Given the description of an element on the screen output the (x, y) to click on. 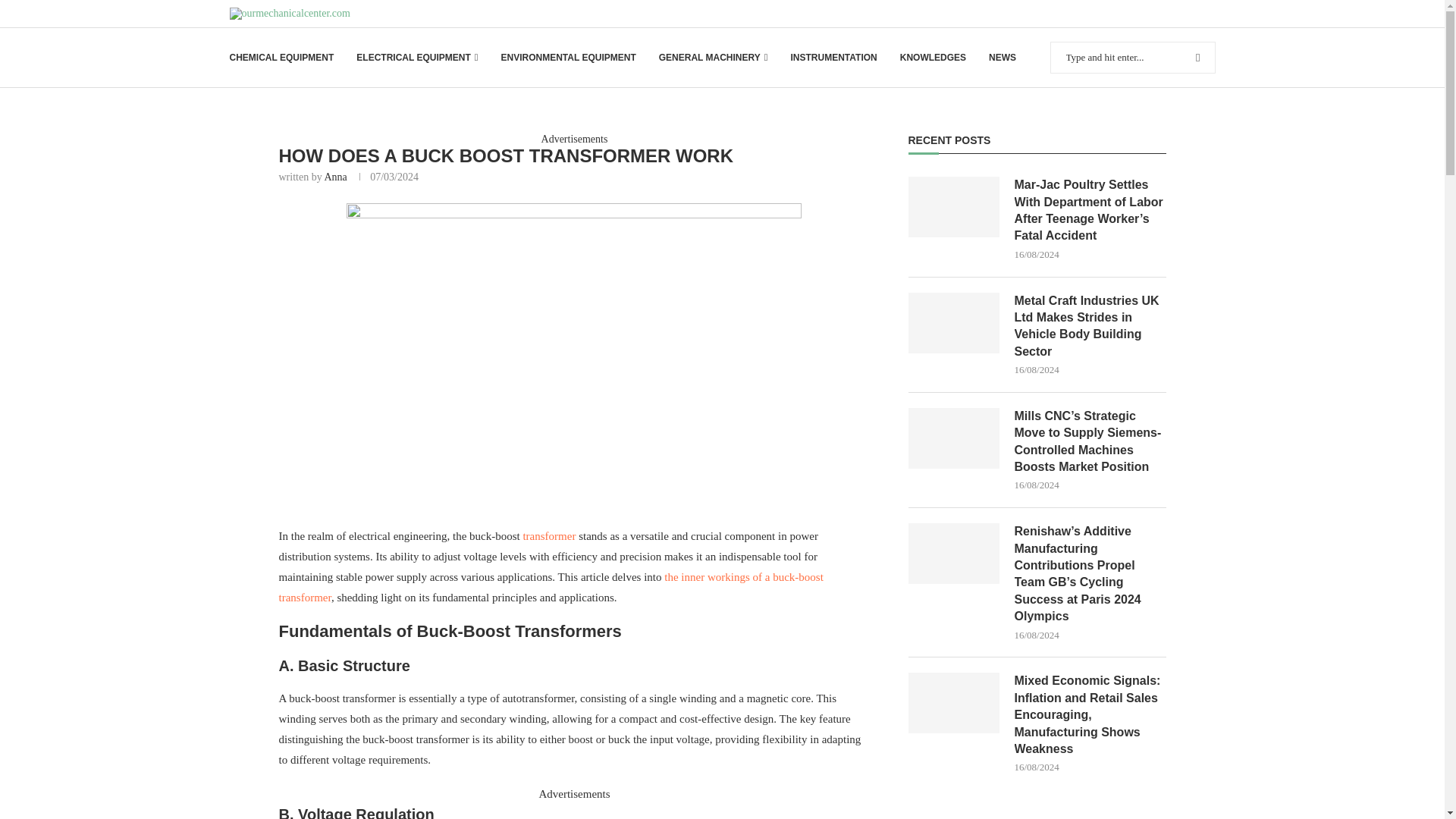
GENERAL MACHINERY (713, 57)
KNOWLEDGES (932, 57)
ELECTRICAL EQUIPMENT (416, 57)
CHEMICAL EQUIPMENT (280, 57)
INSTRUMENTATION (833, 57)
ENVIRONMENTAL EQUIPMENT (567, 57)
